Given the description of an element on the screen output the (x, y) to click on. 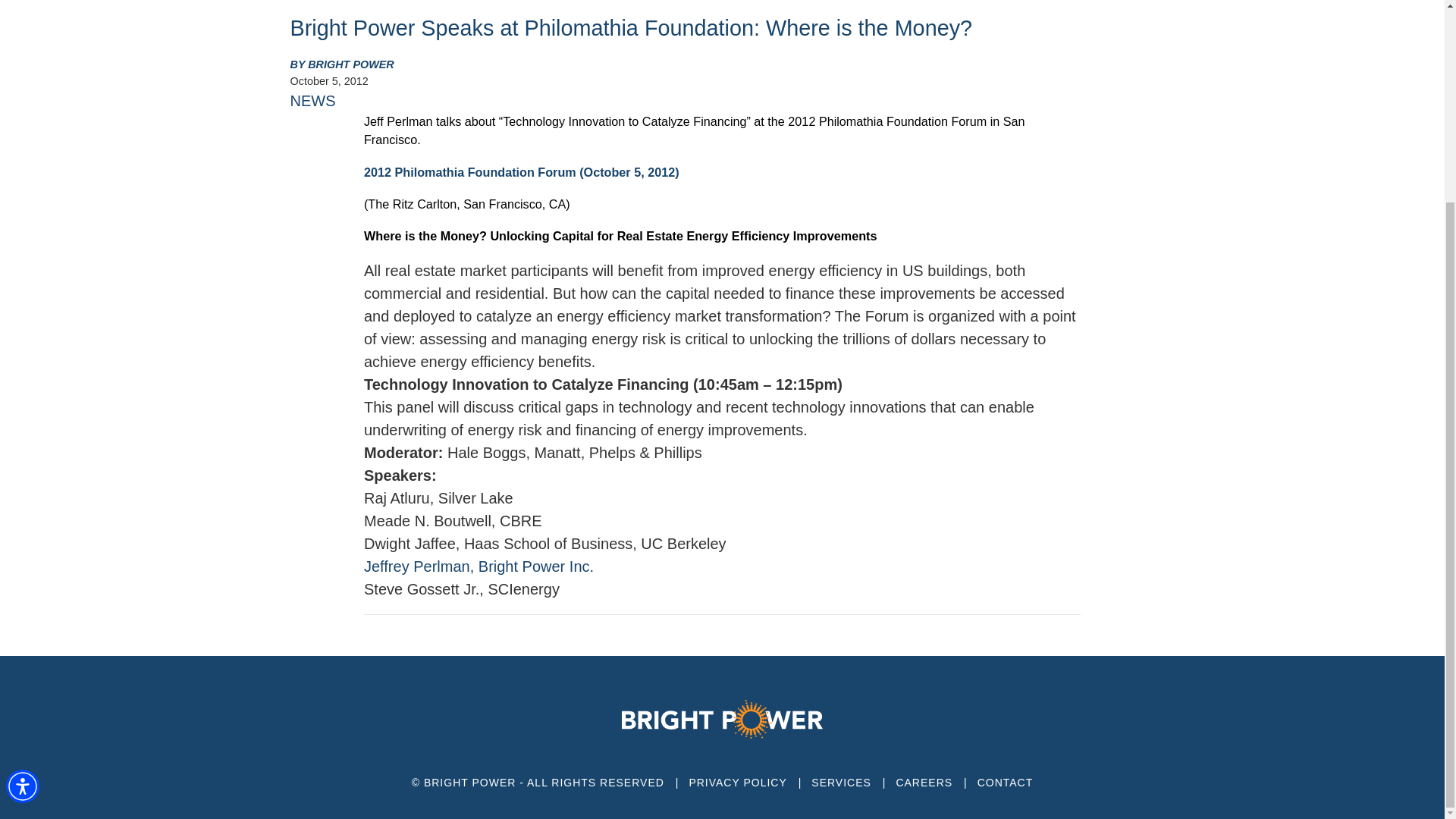
Accessibility Menu (22, 527)
